Given the description of an element on the screen output the (x, y) to click on. 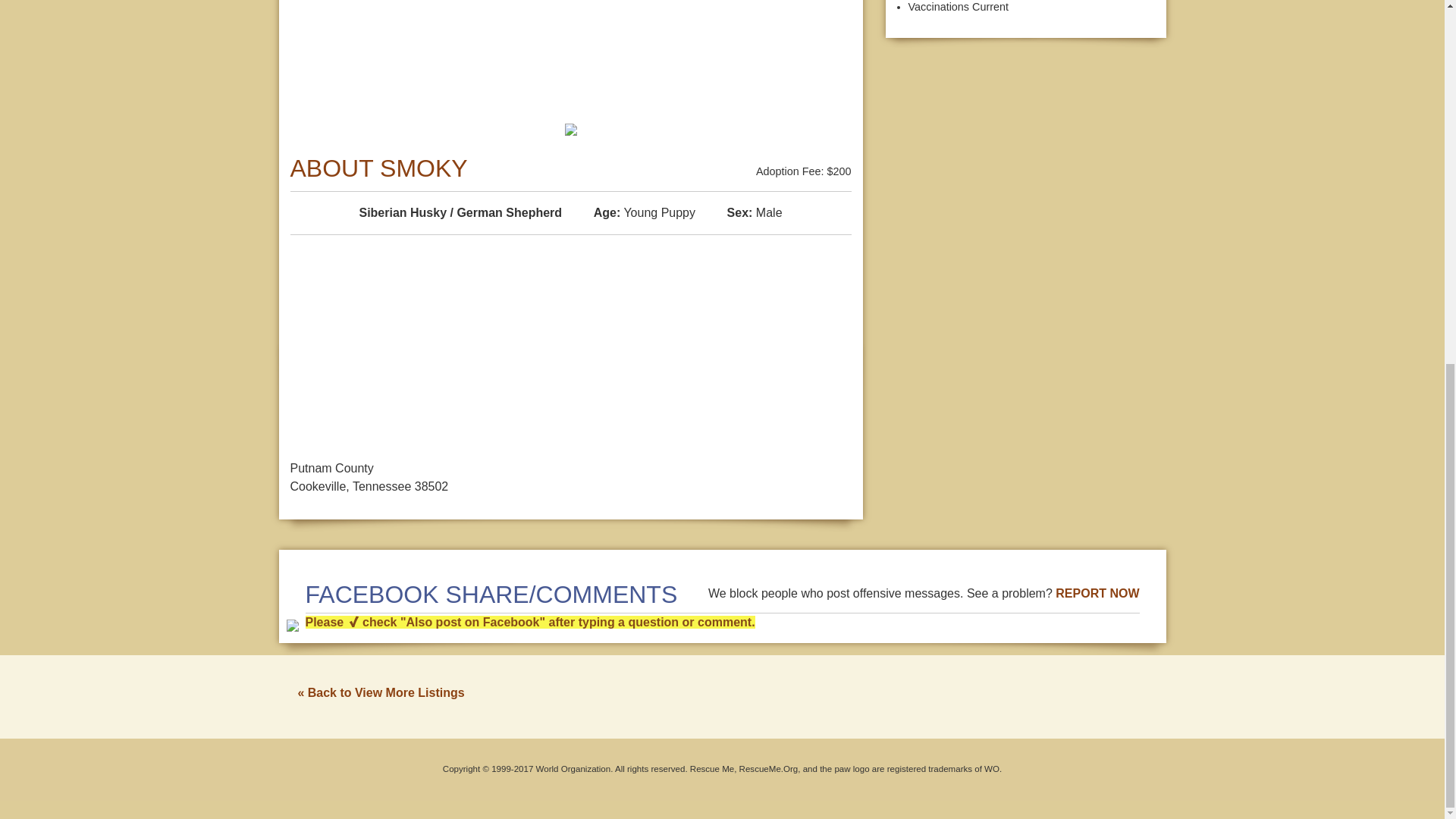
REPORT NOW (1096, 593)
